Given the description of an element on the screen output the (x, y) to click on. 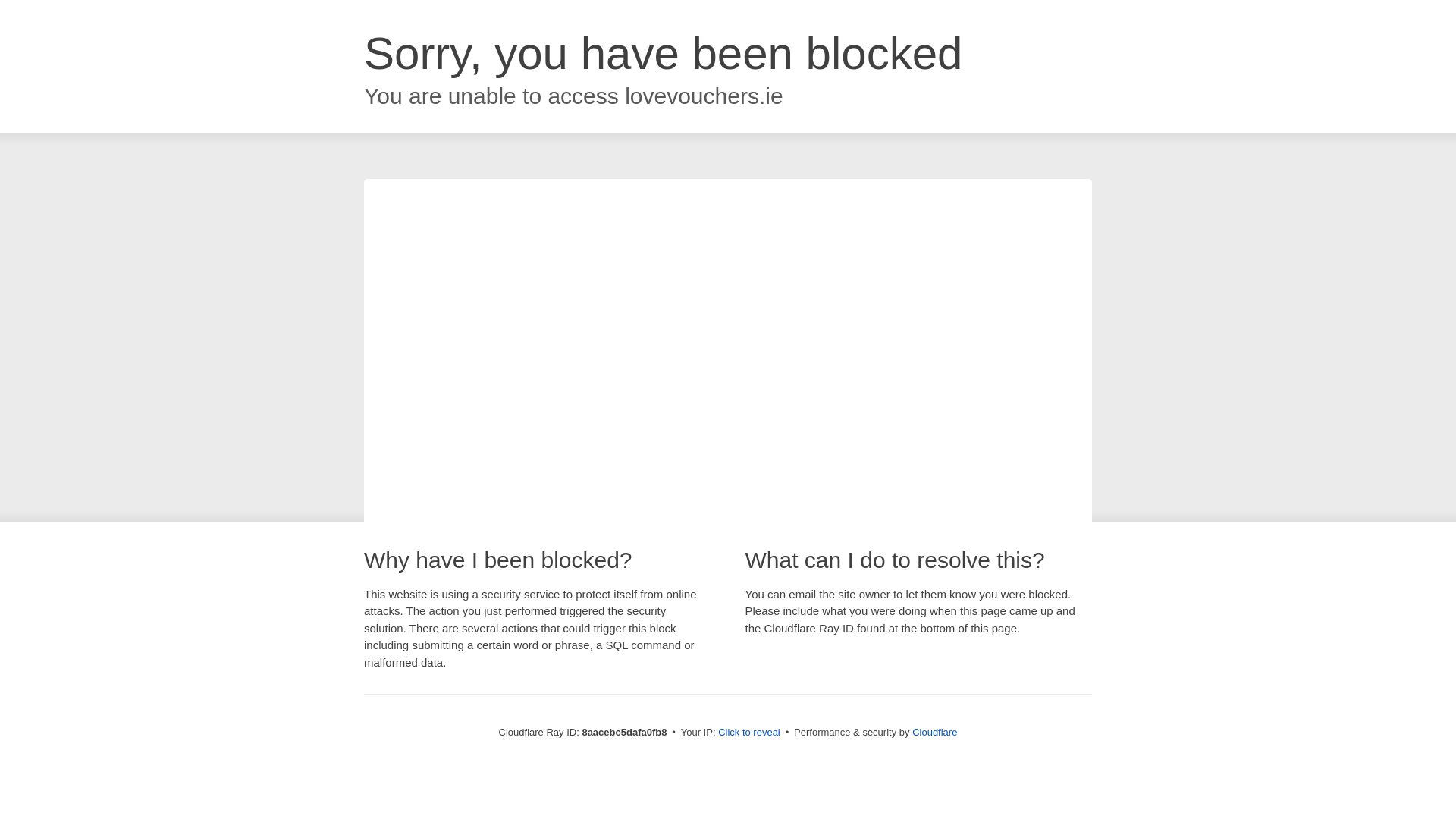
Cloudflare (934, 731)
Click to reveal (748, 732)
